Given the description of an element on the screen output the (x, y) to click on. 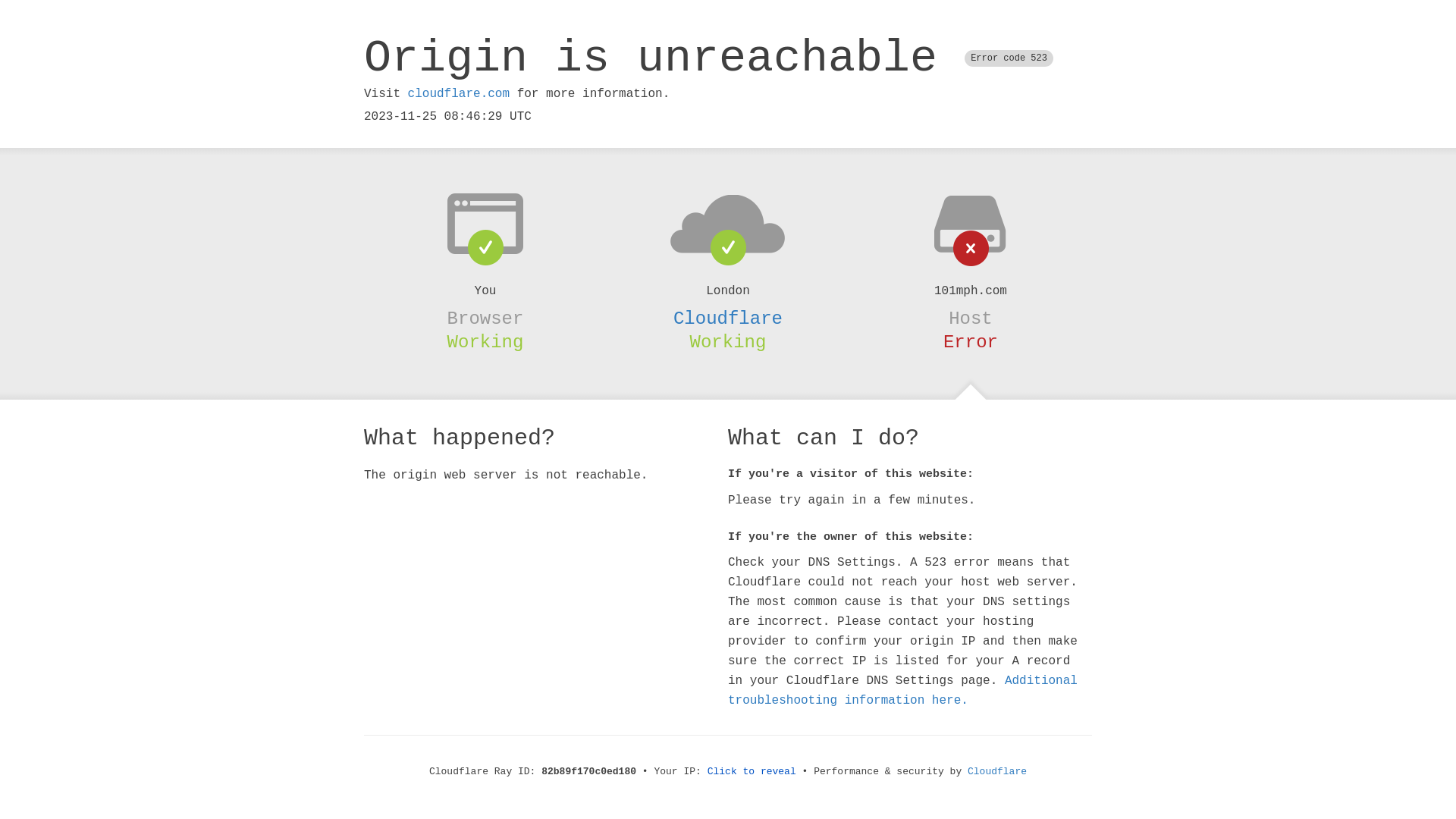
cloudflare.com Element type: text (458, 93)
Additional troubleshooting information here. Element type: text (902, 690)
Click to reveal Element type: text (751, 771)
Cloudflare Element type: text (727, 318)
Cloudflare Element type: text (996, 771)
